Given the description of an element on the screen output the (x, y) to click on. 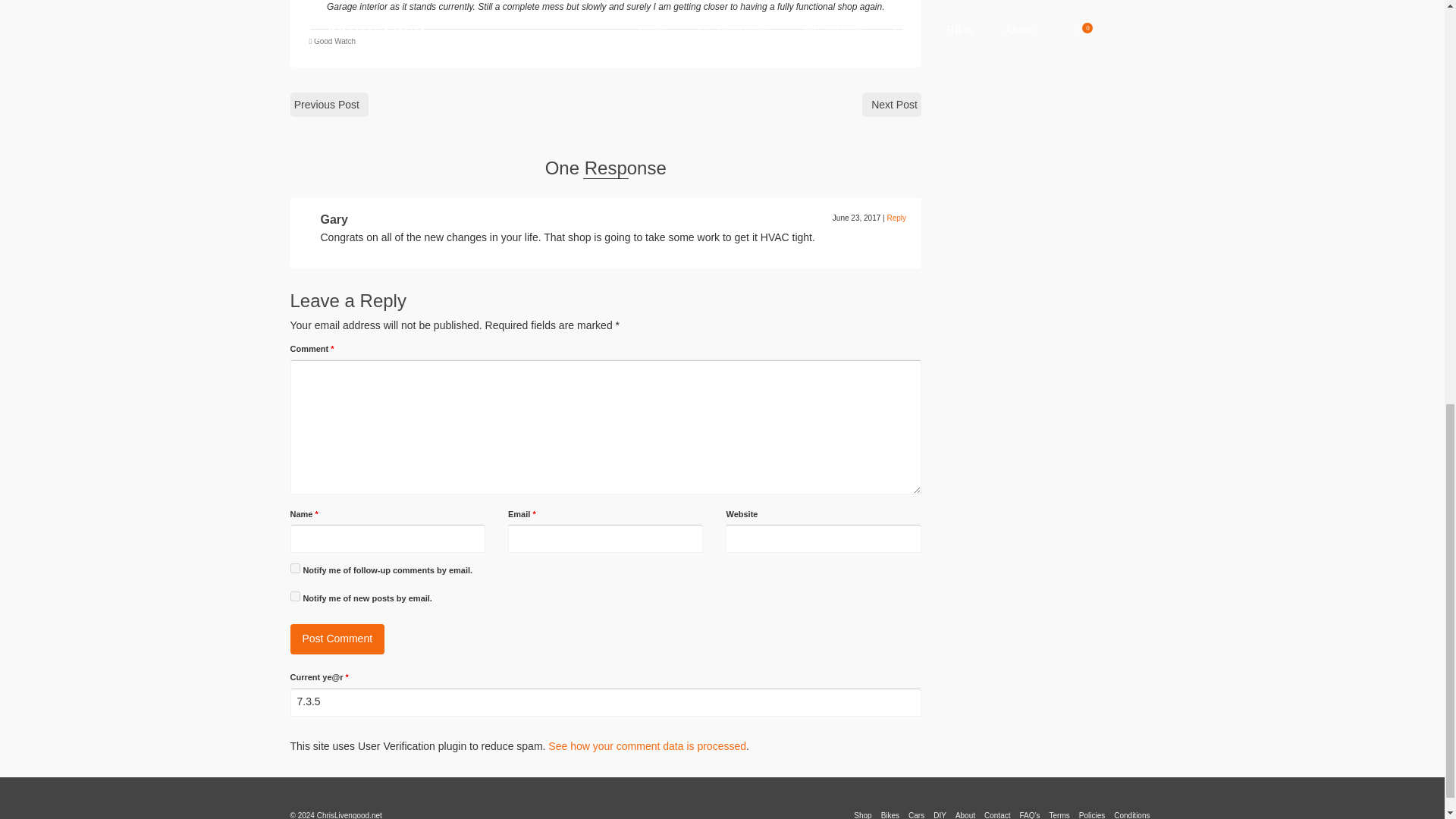
subscribe (294, 568)
7.3.5 (605, 701)
subscribe (294, 596)
Post Comment (336, 639)
